Given the description of an element on the screen output the (x, y) to click on. 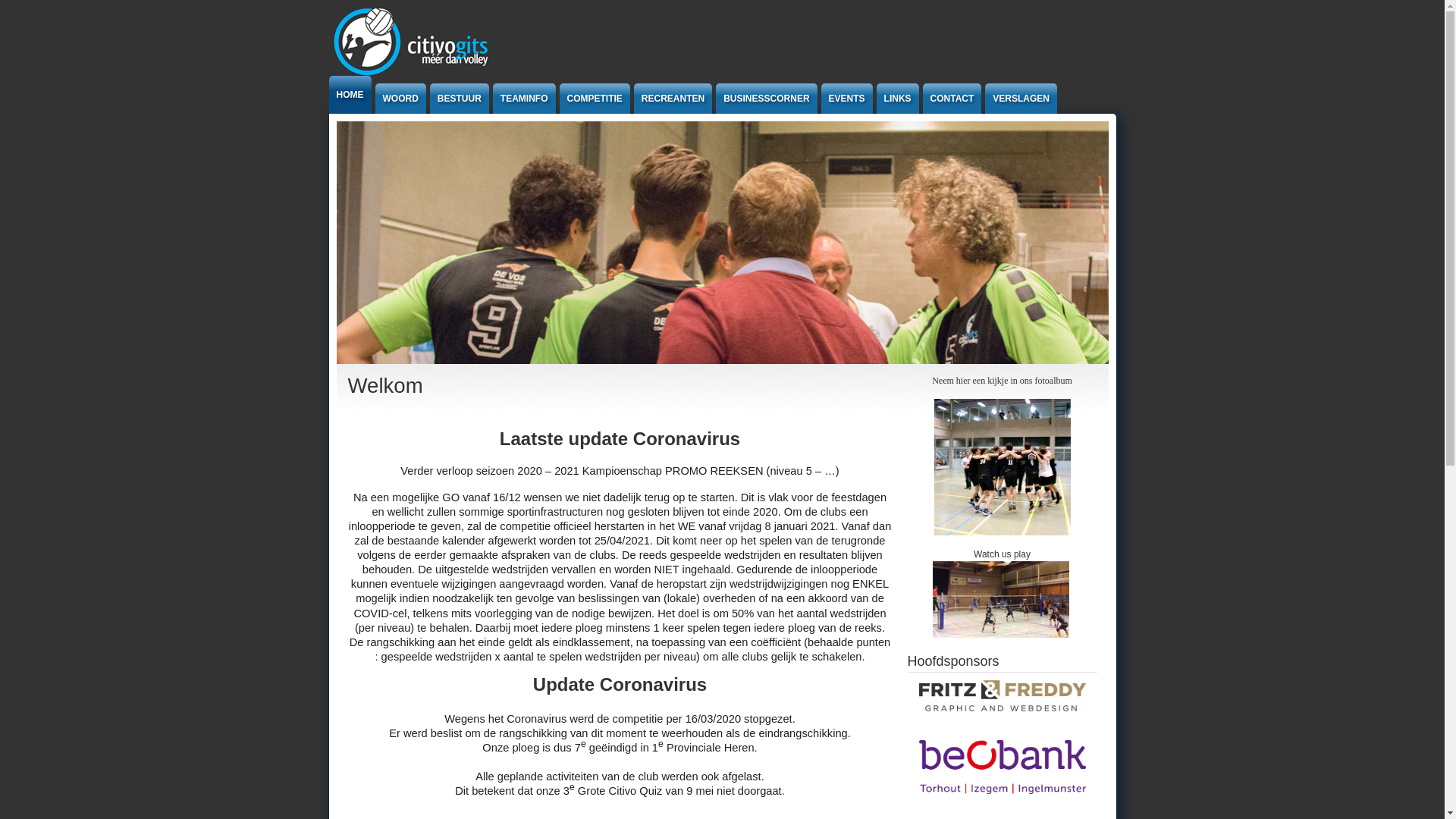
CONTACT Element type: text (952, 98)
Back to homepage Element type: hover (415, 73)
Jump to Content Element type: text (33, 7)
HOME Element type: text (350, 94)
Beobank Element type: hover (1002, 766)
BUSINESSCORNER Element type: text (765, 98)
COMPETITIE Element type: text (594, 98)
Fritz and Freddy Element type: hover (1002, 695)
WOORD Element type: text (399, 98)
BESTUUR Element type: text (459, 98)
RECREANTEN Element type: text (672, 98)
LINKS Element type: text (897, 98)
EVENTS Element type: text (846, 98)
TEAMINFO Element type: text (523, 98)
VERSLAGEN Element type: text (1021, 98)
Fritz and Freddy Element type: hover (1002, 713)
